Given the description of an element on the screen output the (x, y) to click on. 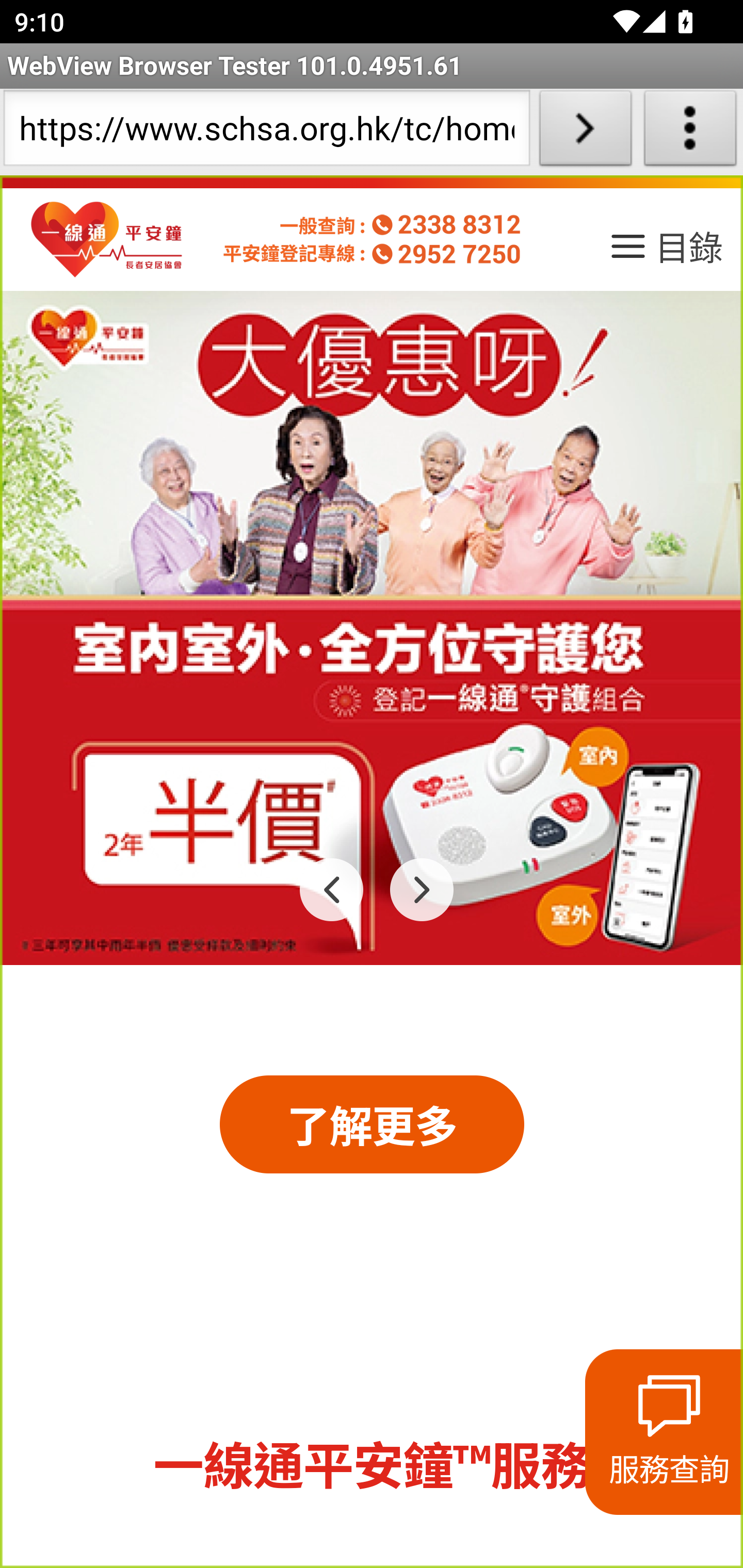
https://www.schsa.org.hk/tc/homepage (266, 132)
Load URL (585, 132)
About WebView (690, 132)
homepage (107, 240)
目錄 (665, 252)
Next slide Previous slide (371, 628)
Previous slide (331, 889)
Next slide (422, 889)
服務查詢 (664, 1432)
